Given the description of an element on the screen output the (x, y) to click on. 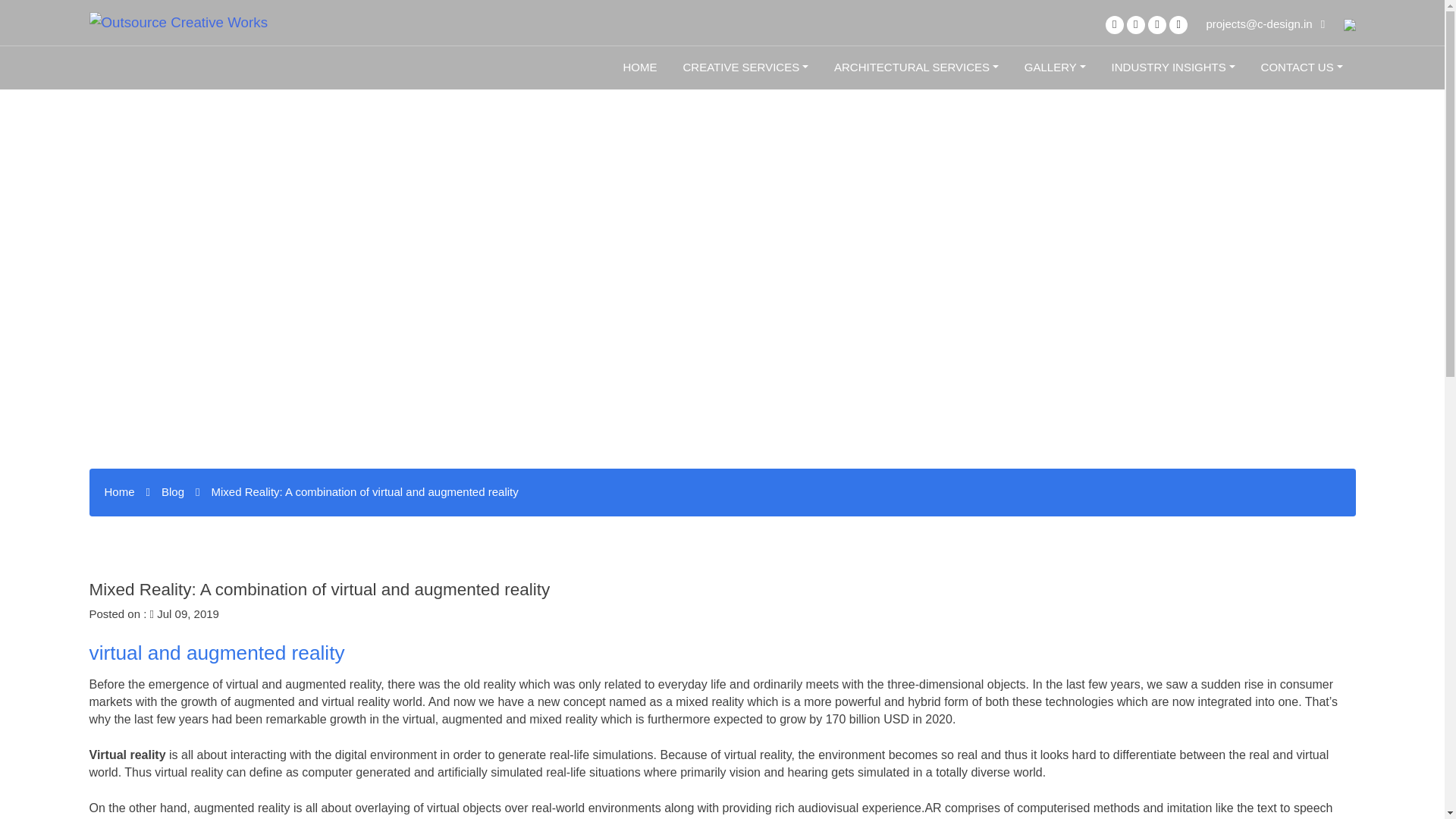
CREATIVE SERVICES (745, 67)
ARCHITECTURAL SERVICES (916, 67)
HOME (639, 67)
GALLERY (1055, 67)
